Given the description of an element on the screen output the (x, y) to click on. 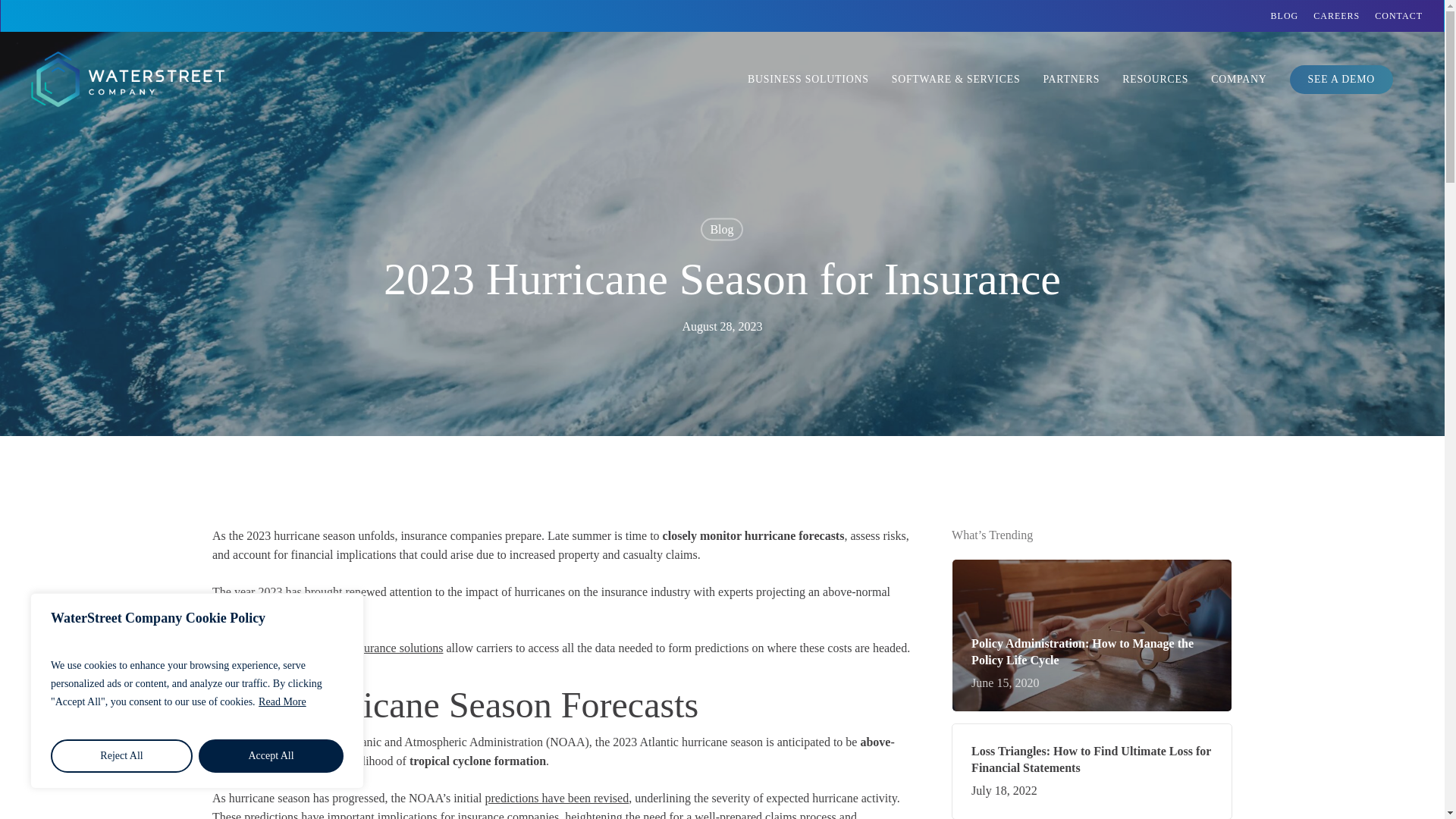
CAREERS (1336, 15)
Read More (282, 701)
Reject All (121, 756)
Accept All (270, 756)
BUSINESS SOLUTIONS (808, 79)
BLOG (1284, 15)
CONTACT (1398, 15)
